Given the description of an element on the screen output the (x, y) to click on. 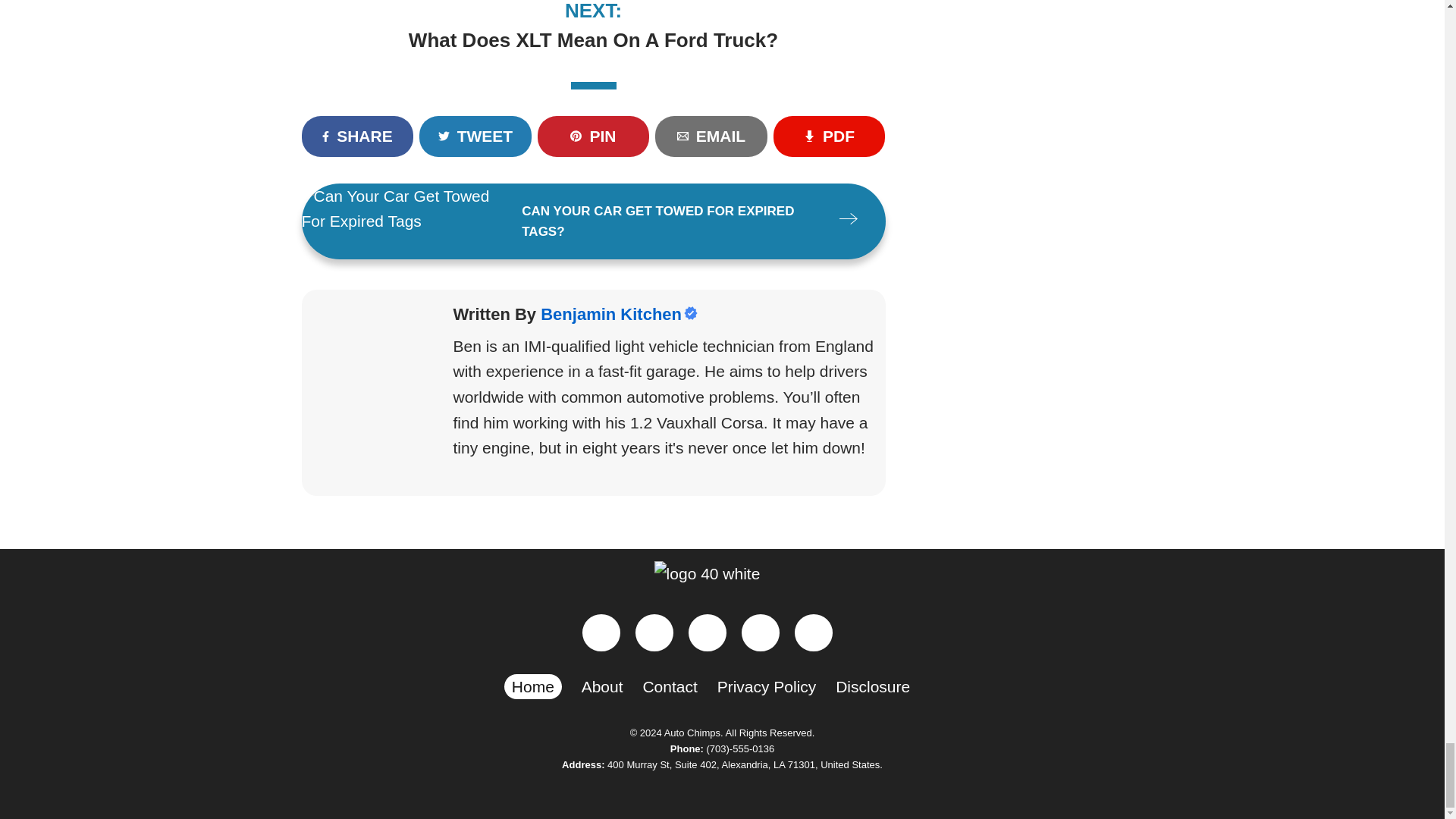
YouTube channel (813, 632)
Facebook page (601, 632)
Download PDF (829, 136)
Twitter account (759, 632)
Instagram page (653, 632)
Pinterest page (707, 632)
